Given the description of an element on the screen output the (x, y) to click on. 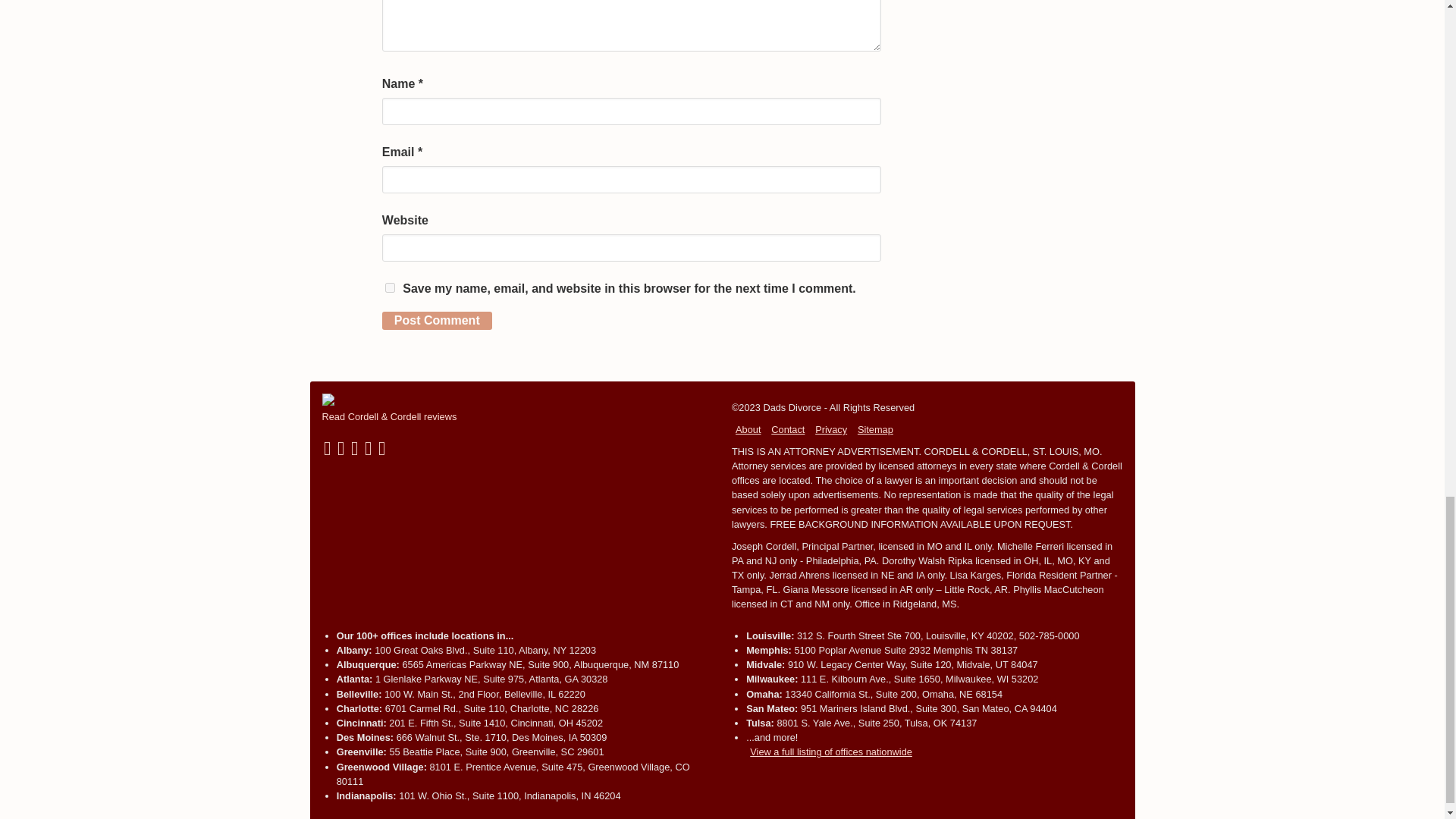
yes (389, 287)
Post Comment (436, 321)
Post Comment (436, 321)
